Given the description of an element on the screen output the (x, y) to click on. 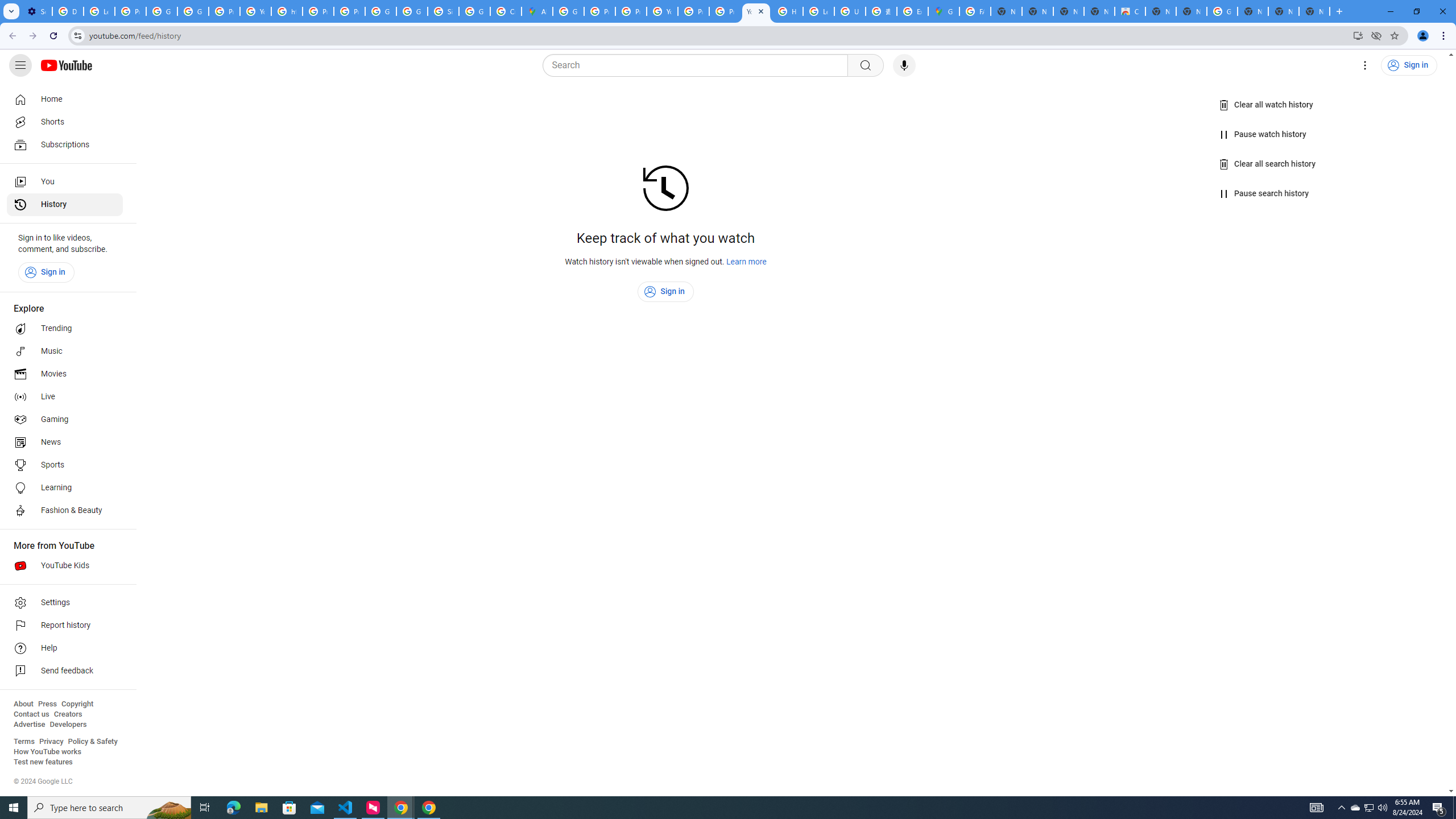
Developers (68, 724)
Test new features (42, 761)
Clear all watch history (1266, 105)
Settings - On startup (36, 11)
Trending (64, 328)
Creators (67, 714)
Music (64, 350)
Sign in - Google Accounts (443, 11)
Home (64, 99)
